Given the description of an element on the screen output the (x, y) to click on. 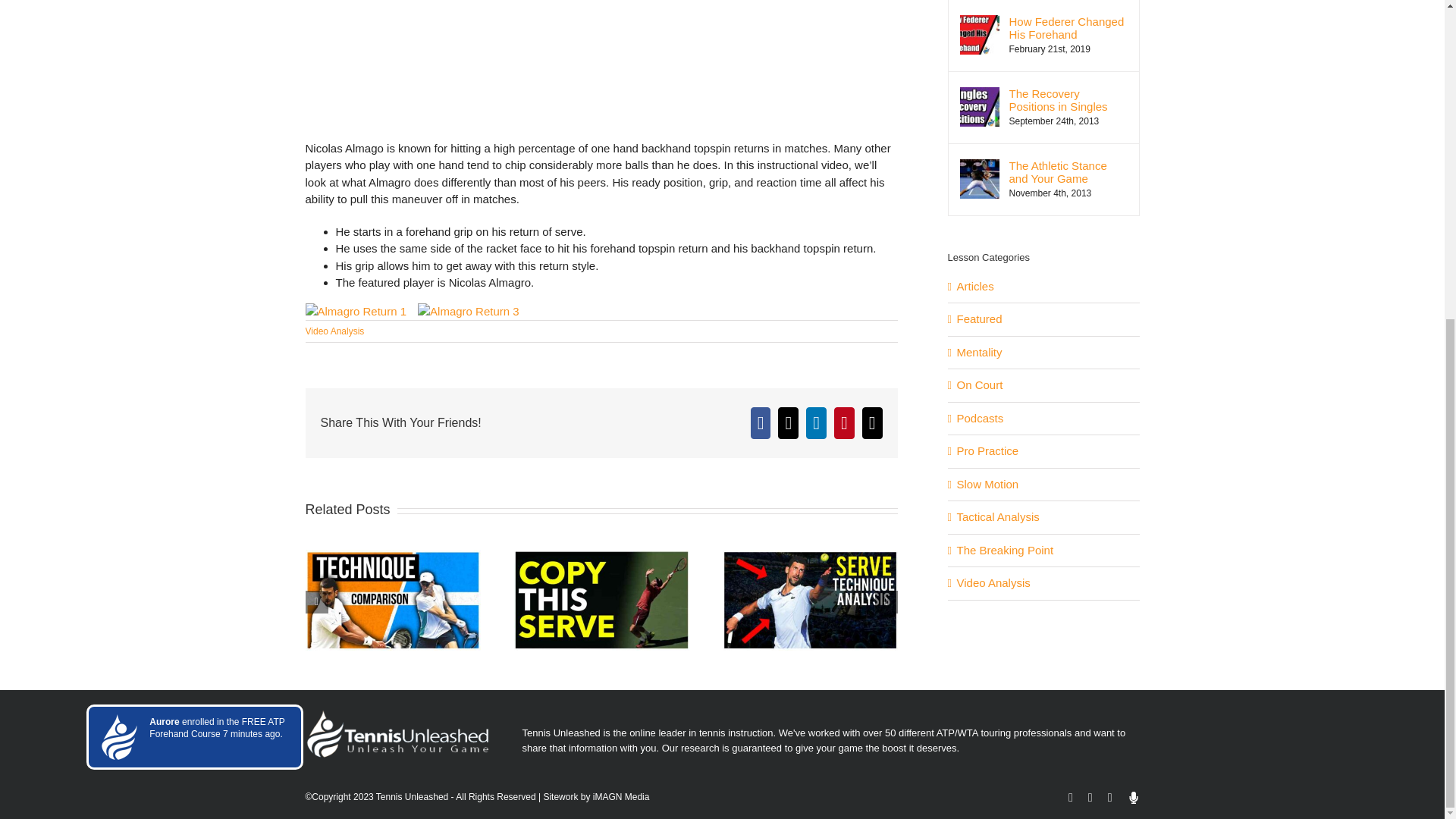
YouTube video player 1 (600, 69)
